Given the description of an element on the screen output the (x, y) to click on. 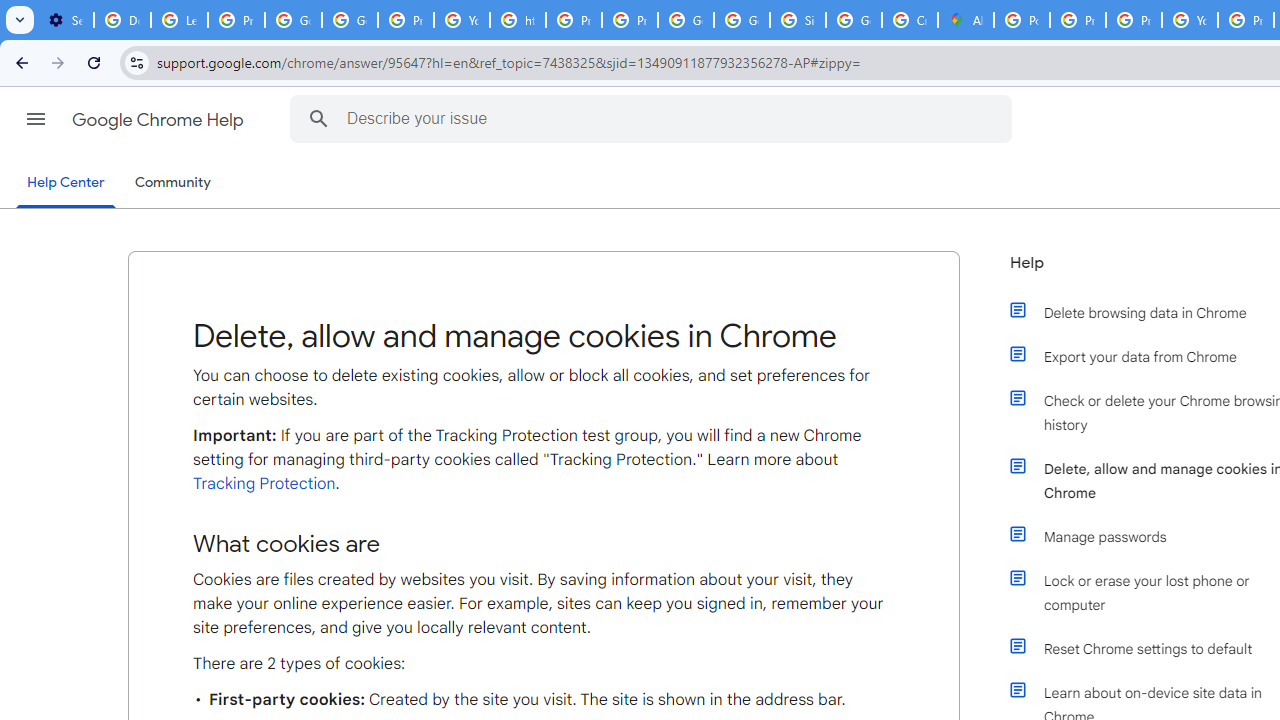
Sign in - Google Accounts (797, 20)
Google Account Help (293, 20)
YouTube (461, 20)
Privacy Help Center - Policies Help (573, 20)
Policy Accountability and Transparency - Transparency Center (1021, 20)
Main menu (35, 119)
Describe your issue (653, 118)
Google Chrome Help (159, 119)
